Given the description of an element on the screen output the (x, y) to click on. 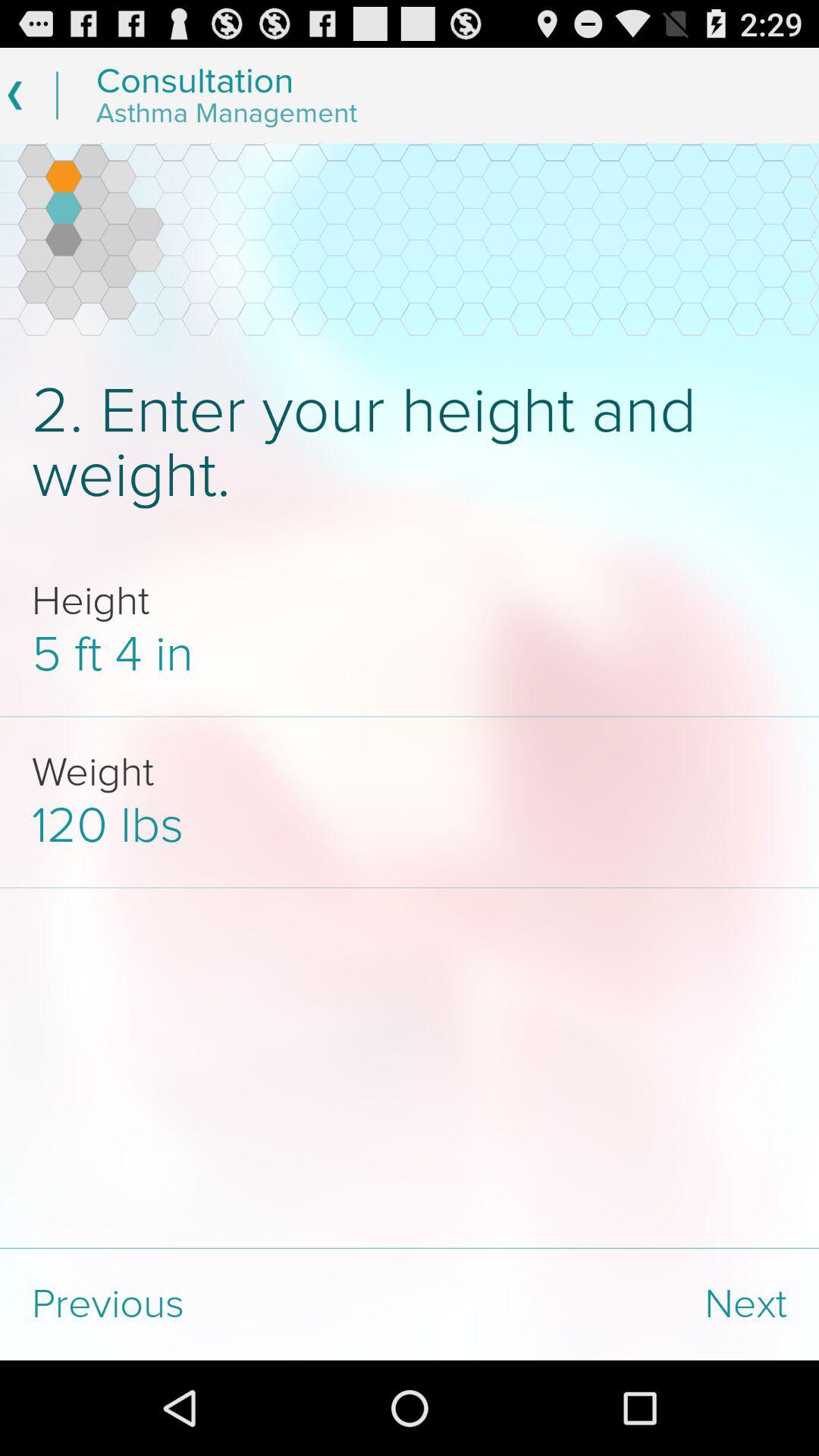
turn on the 5 ft 4 icon (409, 654)
